Given the description of an element on the screen output the (x, y) to click on. 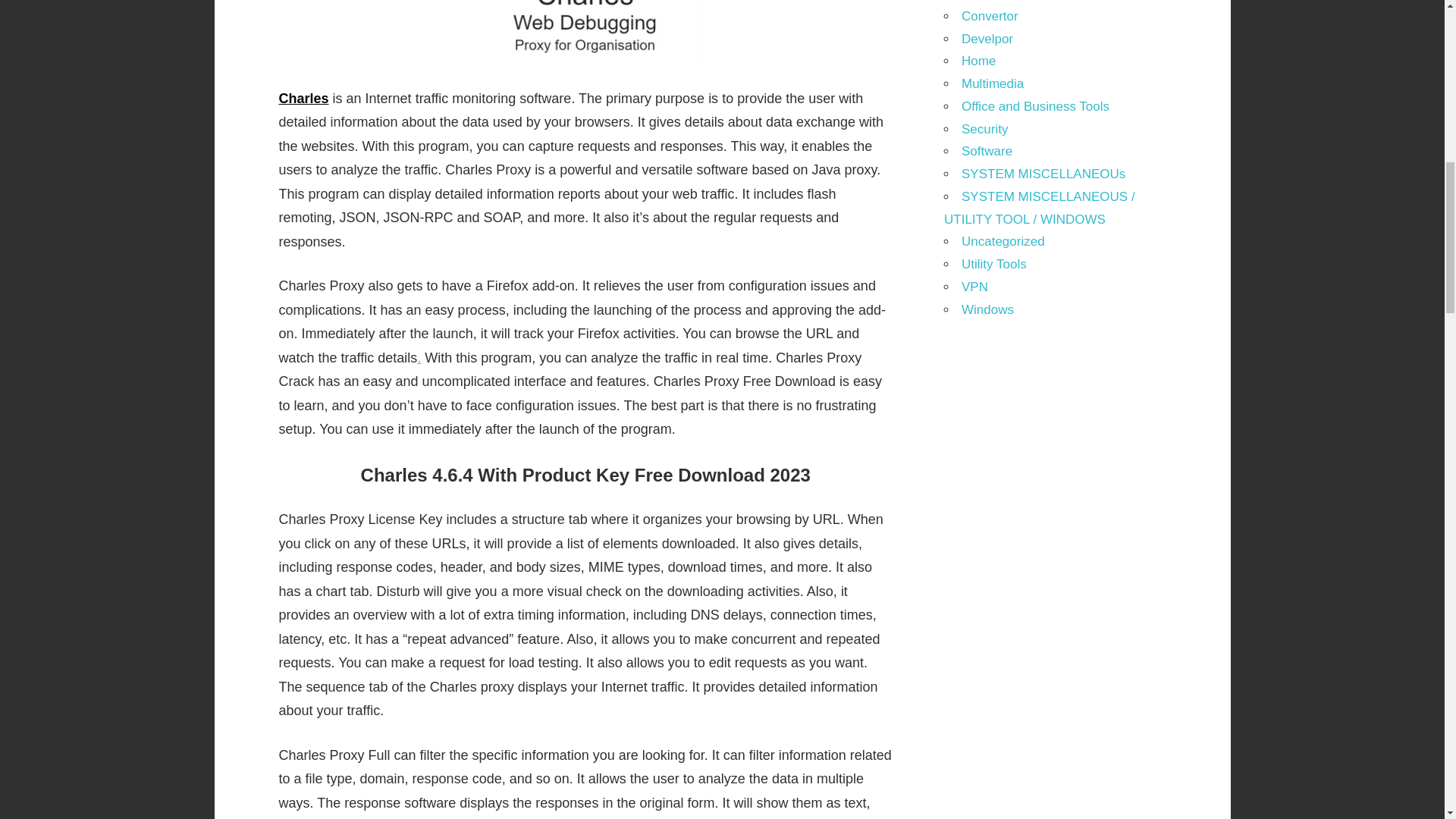
Charles (304, 98)
Charles 4.6.4  (584, 33)
